Given the description of an element on the screen output the (x, y) to click on. 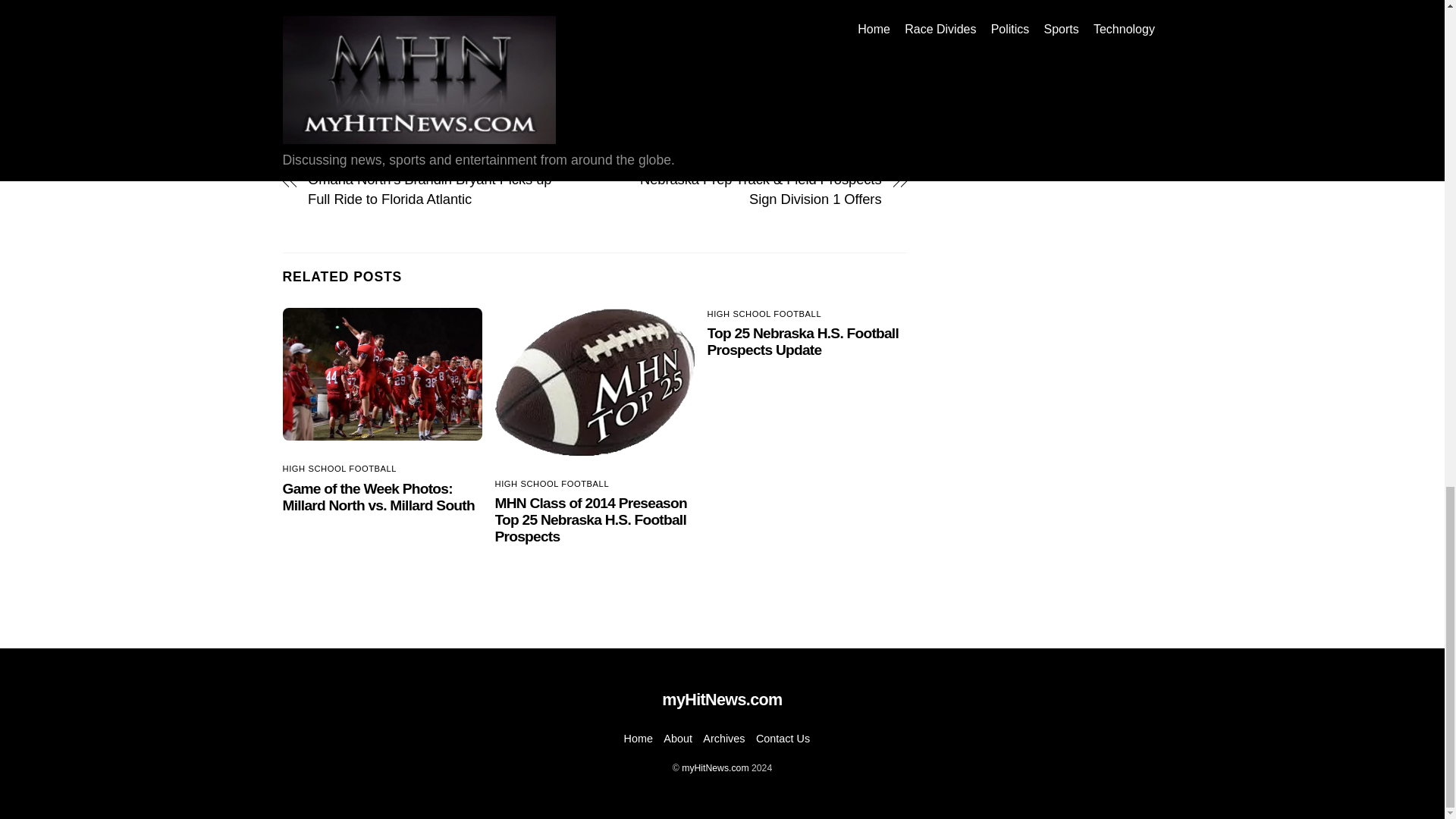
Football Commitments (462, 63)
Email (357, 119)
Game of the Week Photos: Millard North vs. Millard South (378, 496)
Twitter (327, 119)
HIGH SCHOOL FOOTBALL (552, 483)
Facebook (297, 119)
Email (357, 119)
HIGH SCHOOL FOOTBALL (764, 313)
Twitter (327, 119)
Top 25 Nebraska H.S. Football Prospects Update (802, 341)
